Given the description of an element on the screen output the (x, y) to click on. 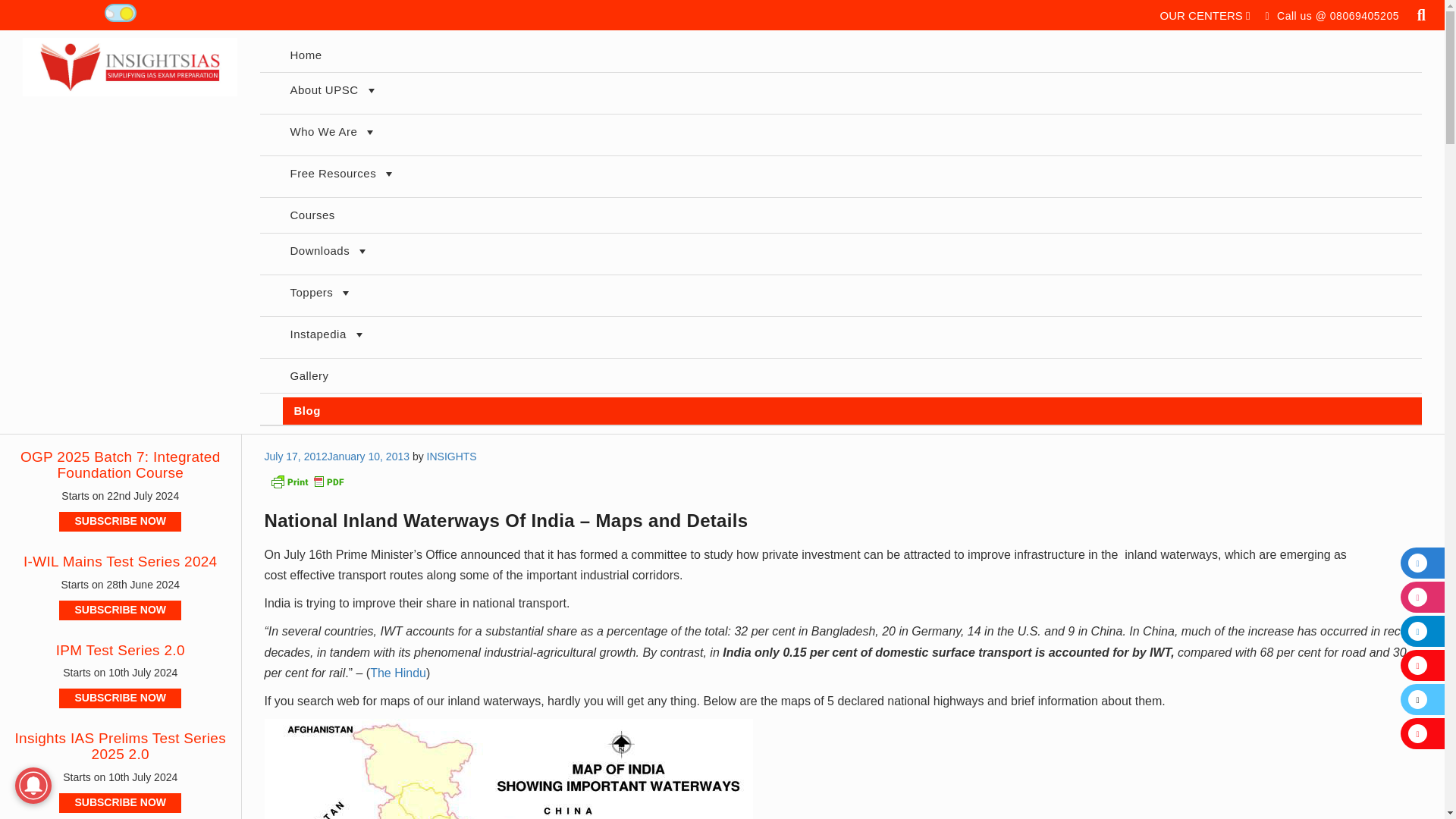
About UPSC (851, 92)
Who We Are (851, 134)
OUR CENTERS (1205, 15)
Inland Waterways of India - Map (508, 769)
08069405205 (1364, 15)
Home (851, 54)
